Given the description of an element on the screen output the (x, y) to click on. 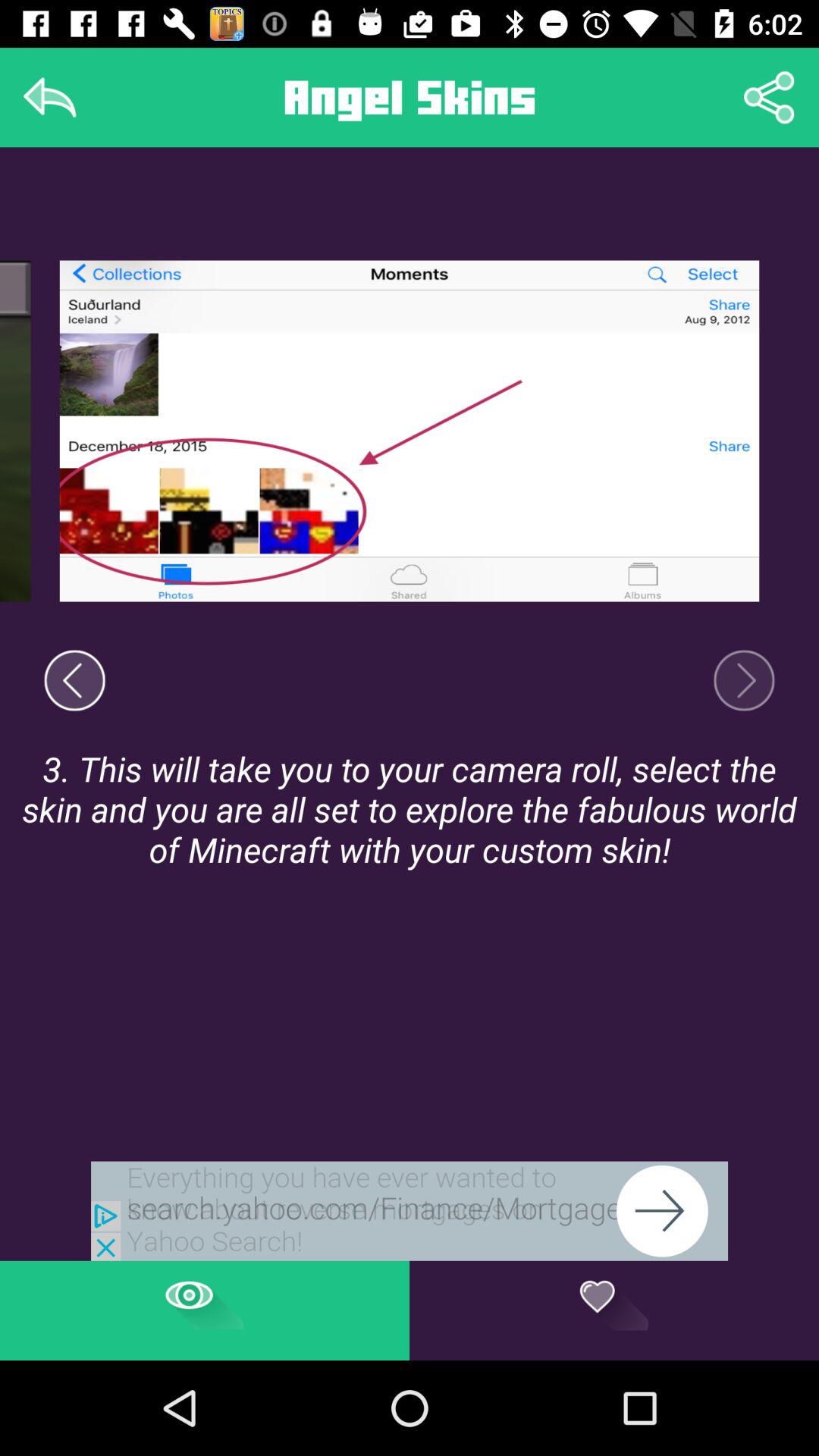
share settings (769, 97)
